Given the description of an element on the screen output the (x, y) to click on. 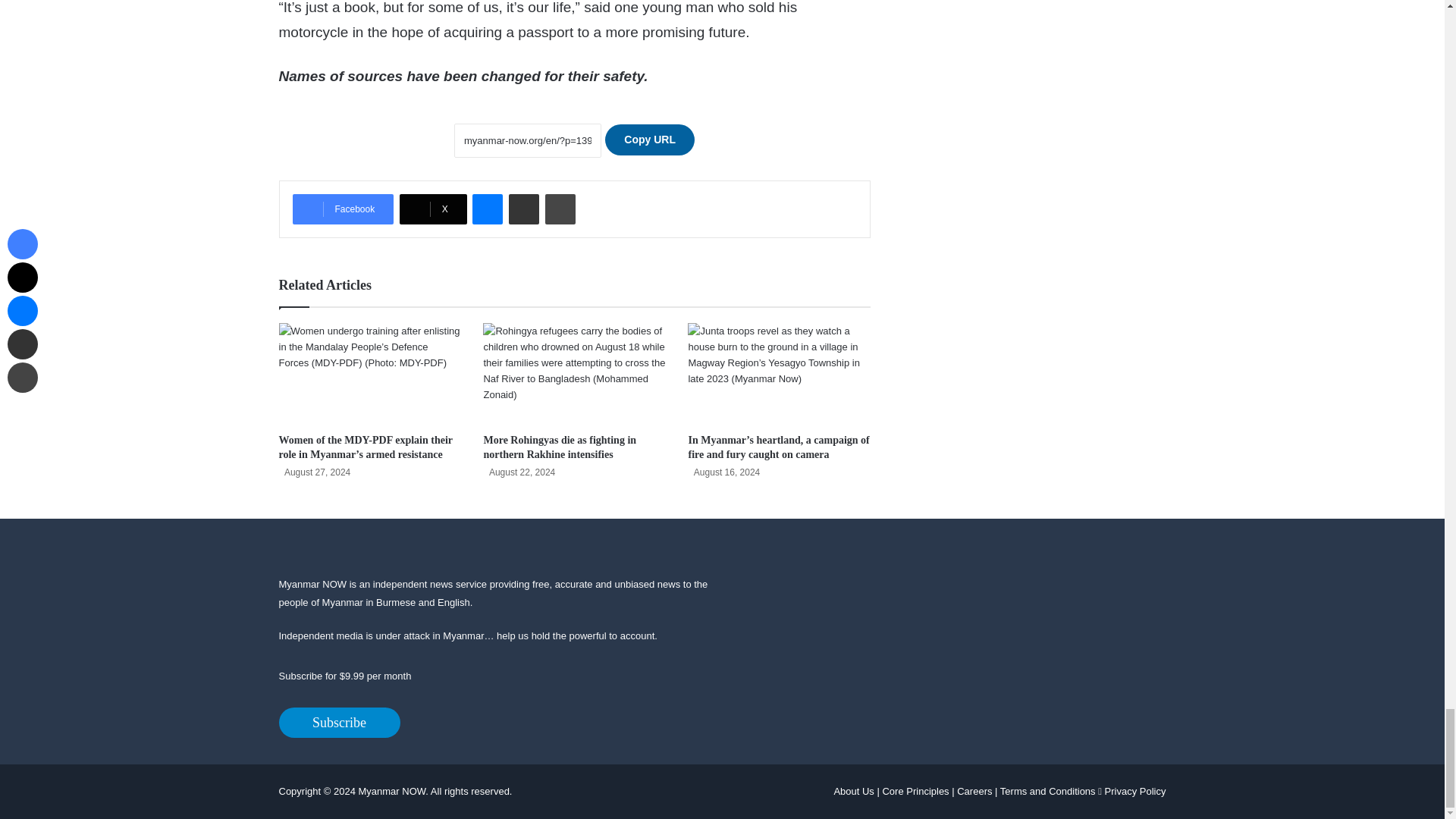
Print (559, 209)
Copy URL (649, 139)
Facebook (343, 209)
Share via Email (523, 209)
Print (559, 209)
Messenger (486, 209)
Messenger (486, 209)
Share via Email (523, 209)
X (432, 209)
